Given the description of an element on the screen output the (x, y) to click on. 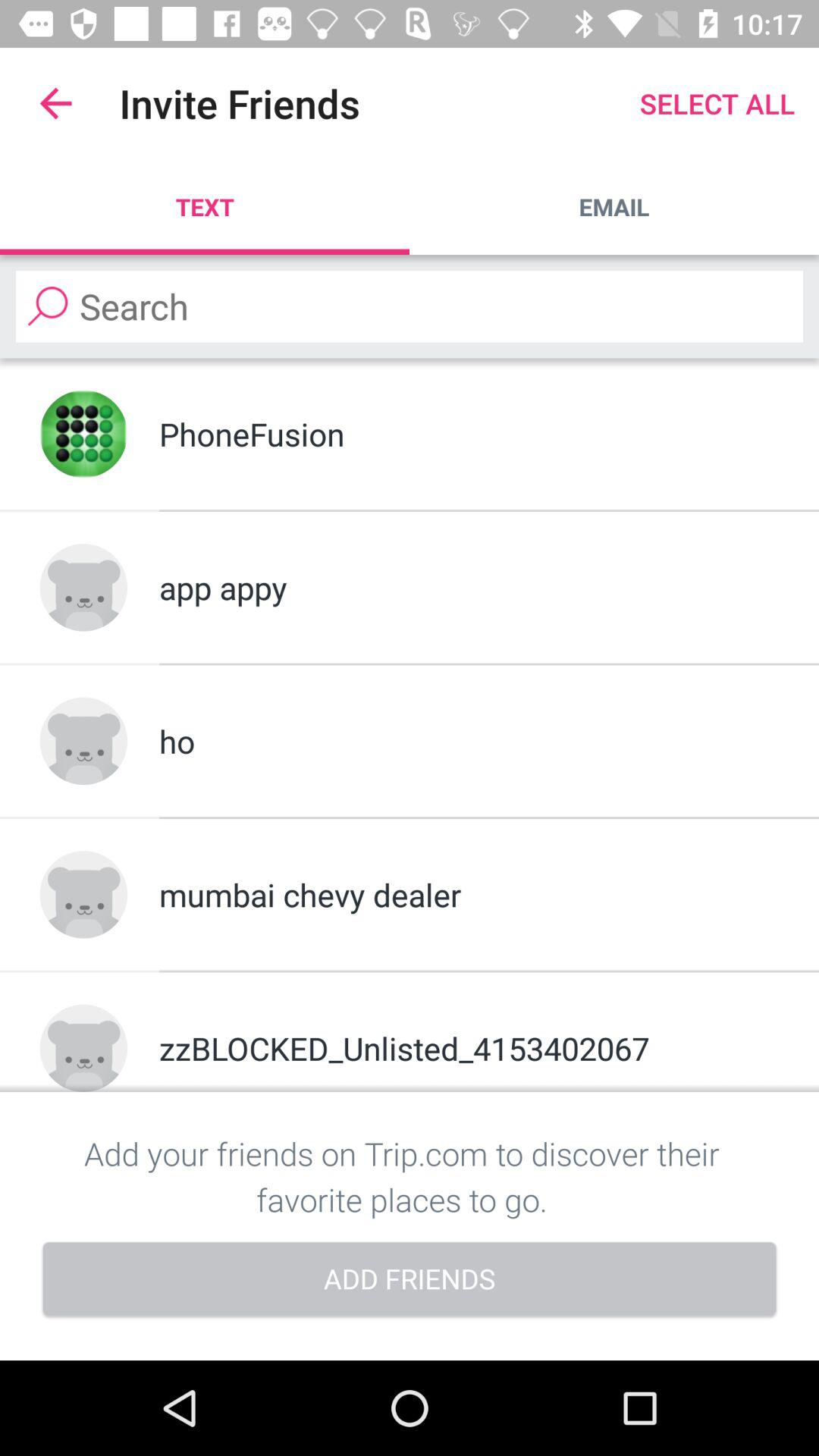
turn on app to the left of the email item (204, 206)
